Given the description of an element on the screen output the (x, y) to click on. 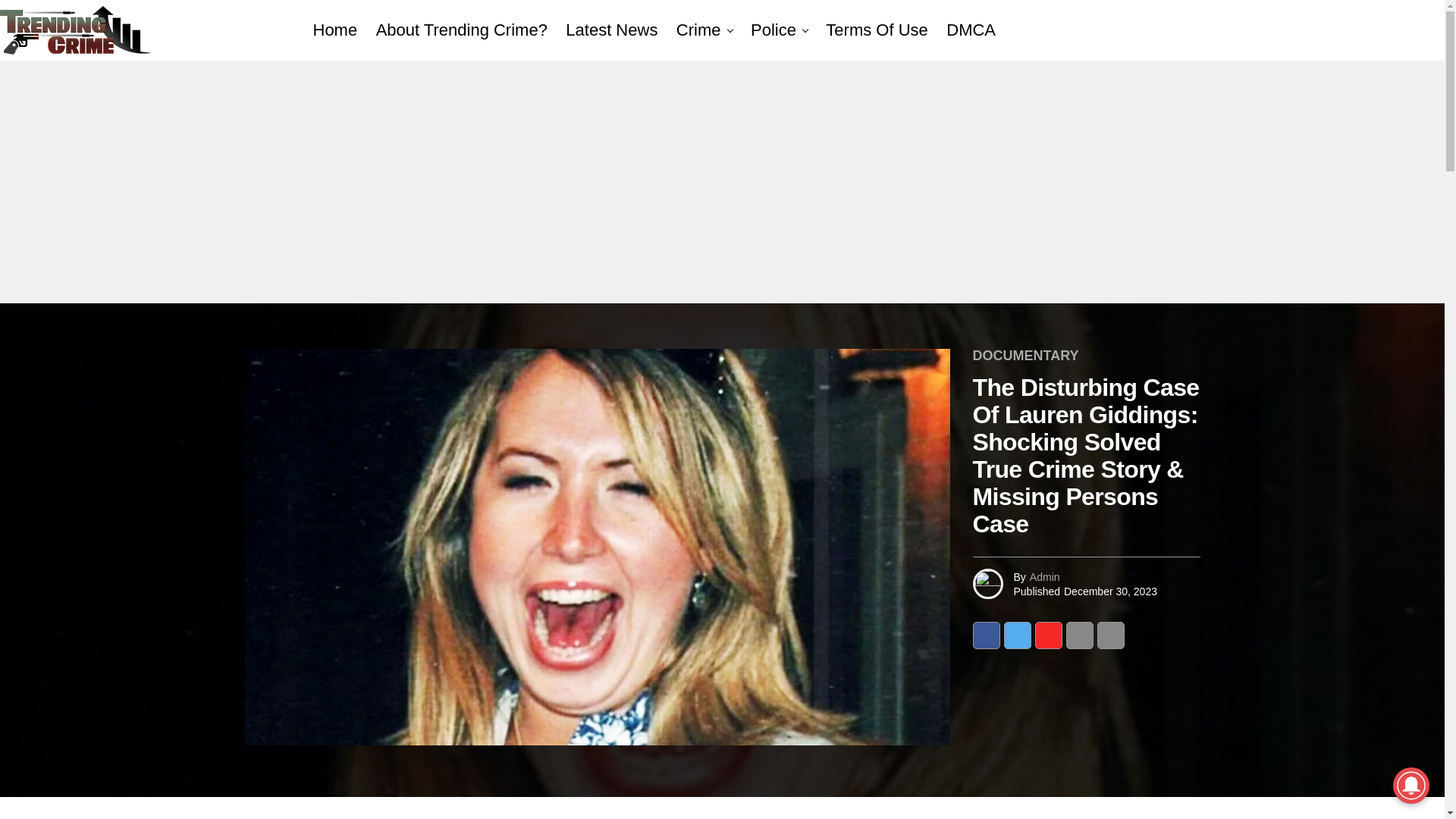
Share on Facebook (985, 635)
Posts by Admin (1044, 576)
Police (772, 30)
Tweet This Post (1017, 635)
About Trending Crime? (461, 30)
Admin (1044, 576)
Latest News (611, 30)
Terms Of Use (876, 30)
DMCA (971, 30)
DOCUMENTARY (1025, 355)
Share on Flipboard (1047, 635)
Crime (698, 30)
